Given the description of an element on the screen output the (x, y) to click on. 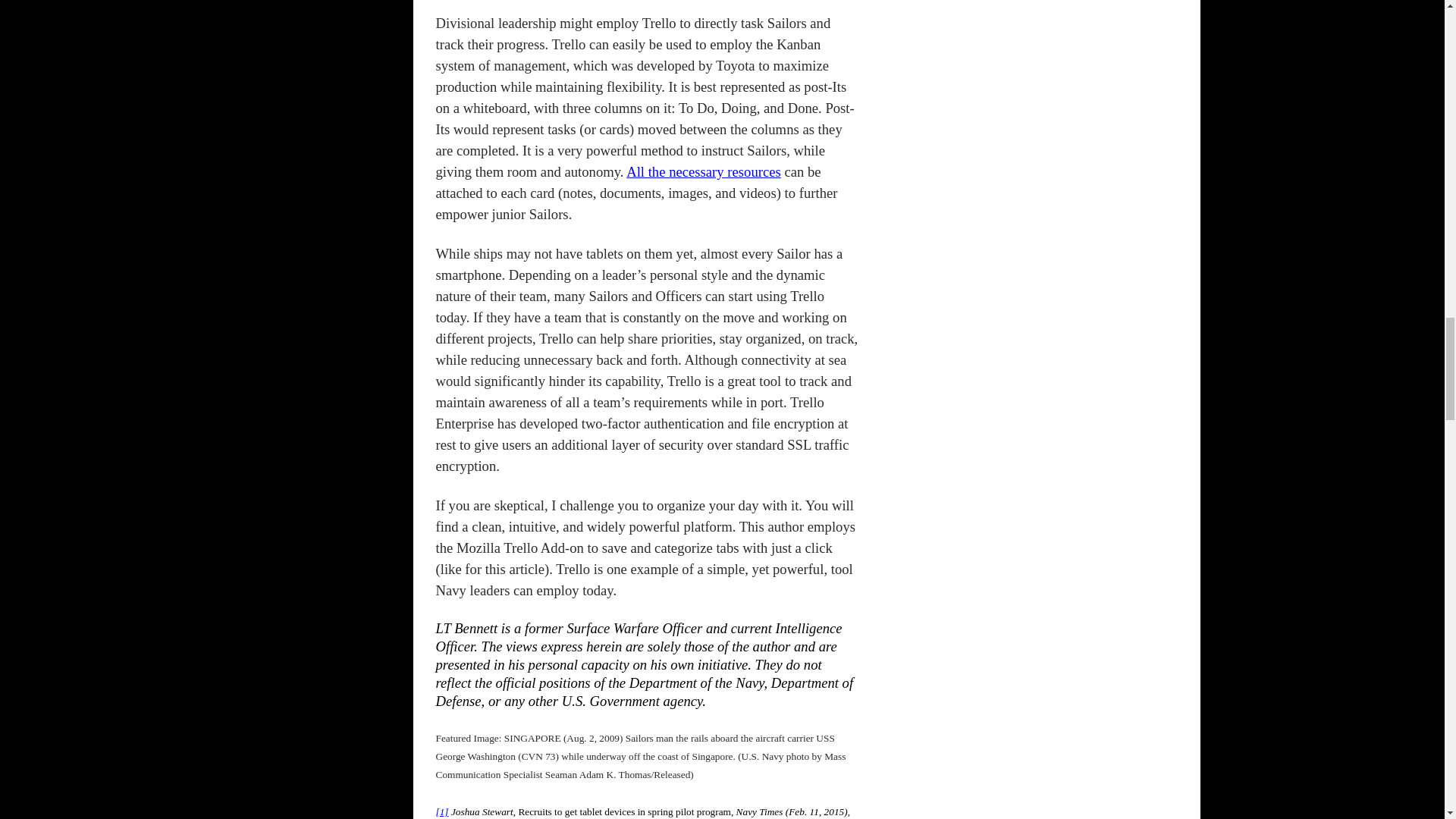
All the necessary resources (703, 171)
